Given the description of an element on the screen output the (x, y) to click on. 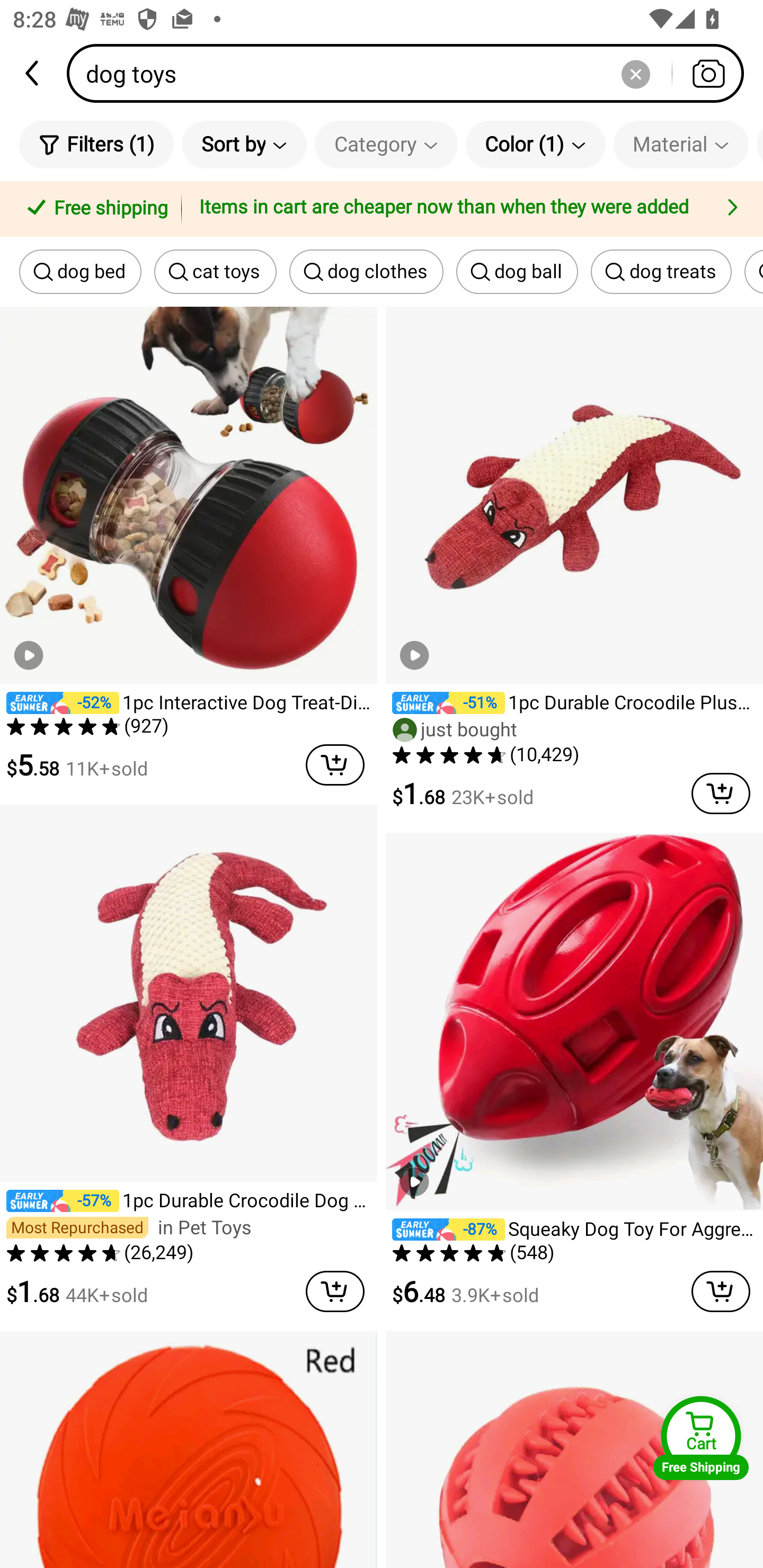
back (33, 72)
dog toys (411, 73)
Delete search history (635, 73)
Search by photo (708, 73)
Filters (1) (96, 143)
Sort by (243, 143)
Category (385, 143)
Color (1) (535, 143)
Material (680, 143)
 Free shipping (93, 208)
dog bed (80, 271)
cat toys (215, 271)
dog clothes (366, 271)
dog ball (517, 271)
dog treats (660, 271)
Cart Free Shipping Cart (701, 1437)
